Given the description of an element on the screen output the (x, y) to click on. 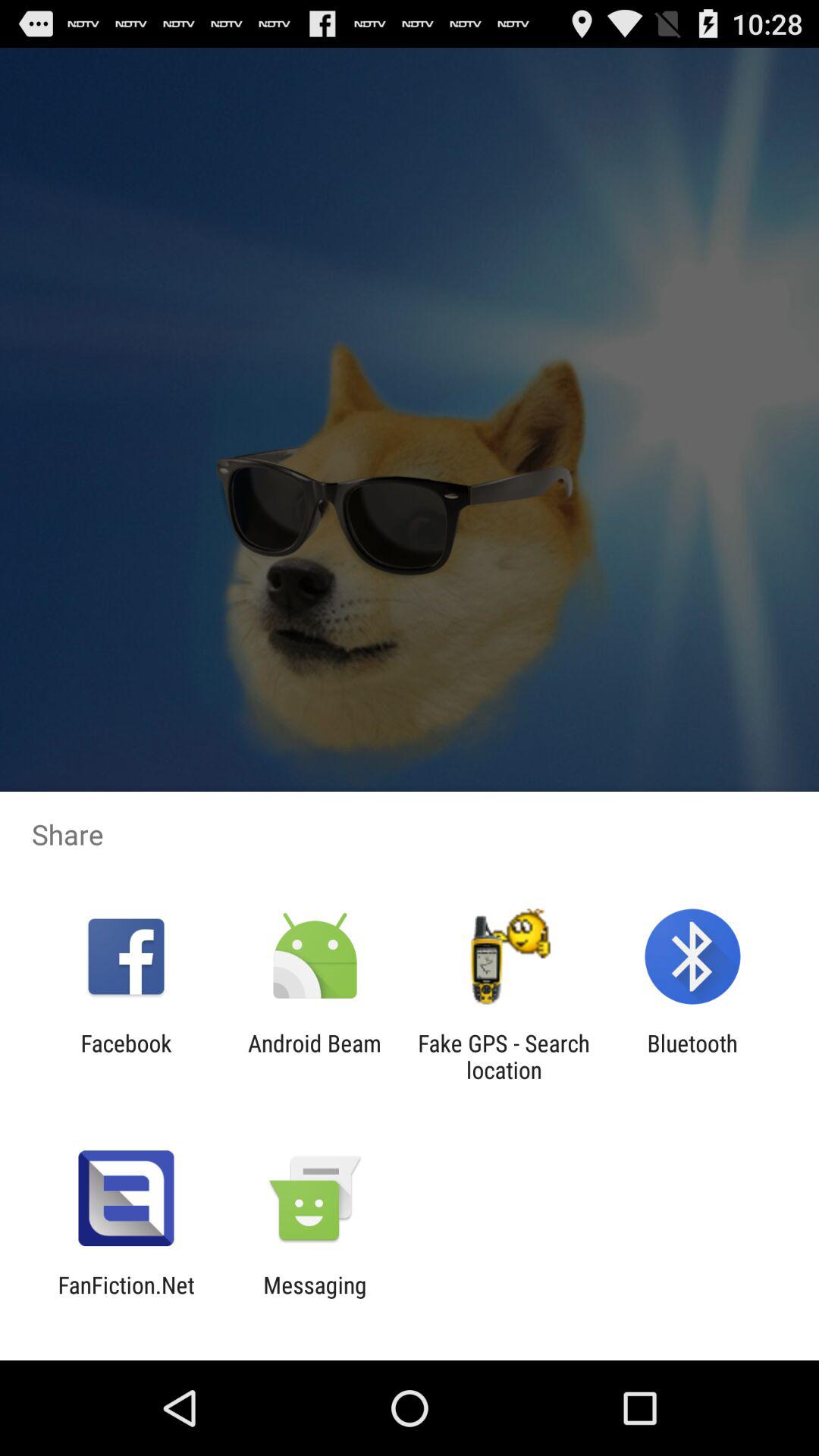
flip to messaging icon (314, 1298)
